Given the description of an element on the screen output the (x, y) to click on. 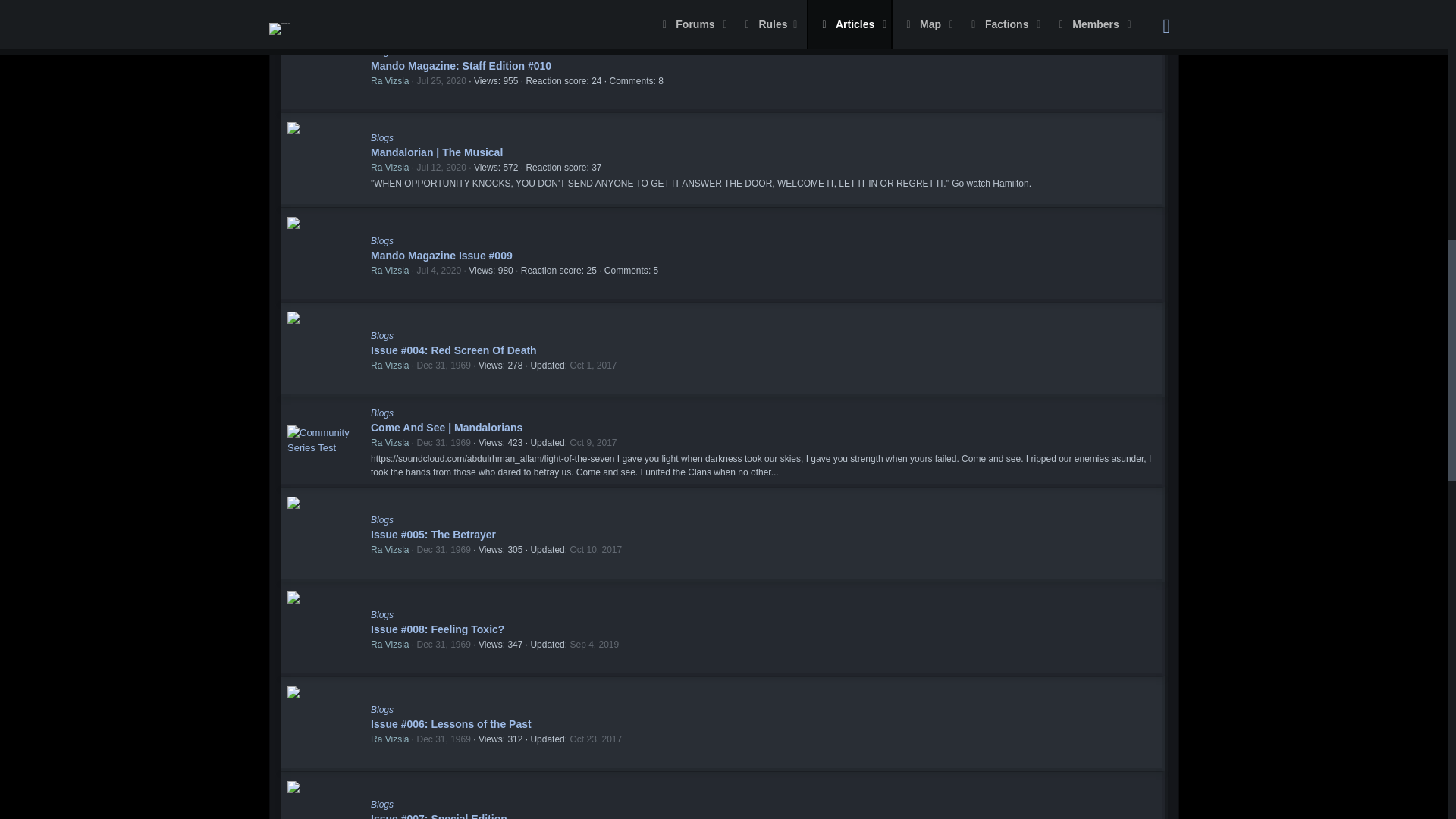
Jul 4, 2020 at 9:48 PM (438, 270)
Oct 23, 2017 at 8:42 PM (595, 738)
Dec 31, 1969 at 7:00 PM (443, 738)
Dec 31, 1969 at 7:00 PM (443, 644)
Dec 31, 1969 at 7:00 PM (443, 365)
Jul 12, 2020 at 11:17 AM (440, 167)
Jul 25, 2020 at 11:38 AM (440, 81)
Oct 10, 2017 at 5:55 AM (595, 549)
Dec 31, 1969 at 7:00 PM (443, 442)
Oct 1, 2017 at 3:21 PM (592, 365)
Dec 31, 1969 at 7:00 PM (443, 549)
Sep 4, 2019 at 4:05 AM (593, 644)
Oct 9, 2017 at 11:35 AM (592, 442)
